Given the description of an element on the screen output the (x, y) to click on. 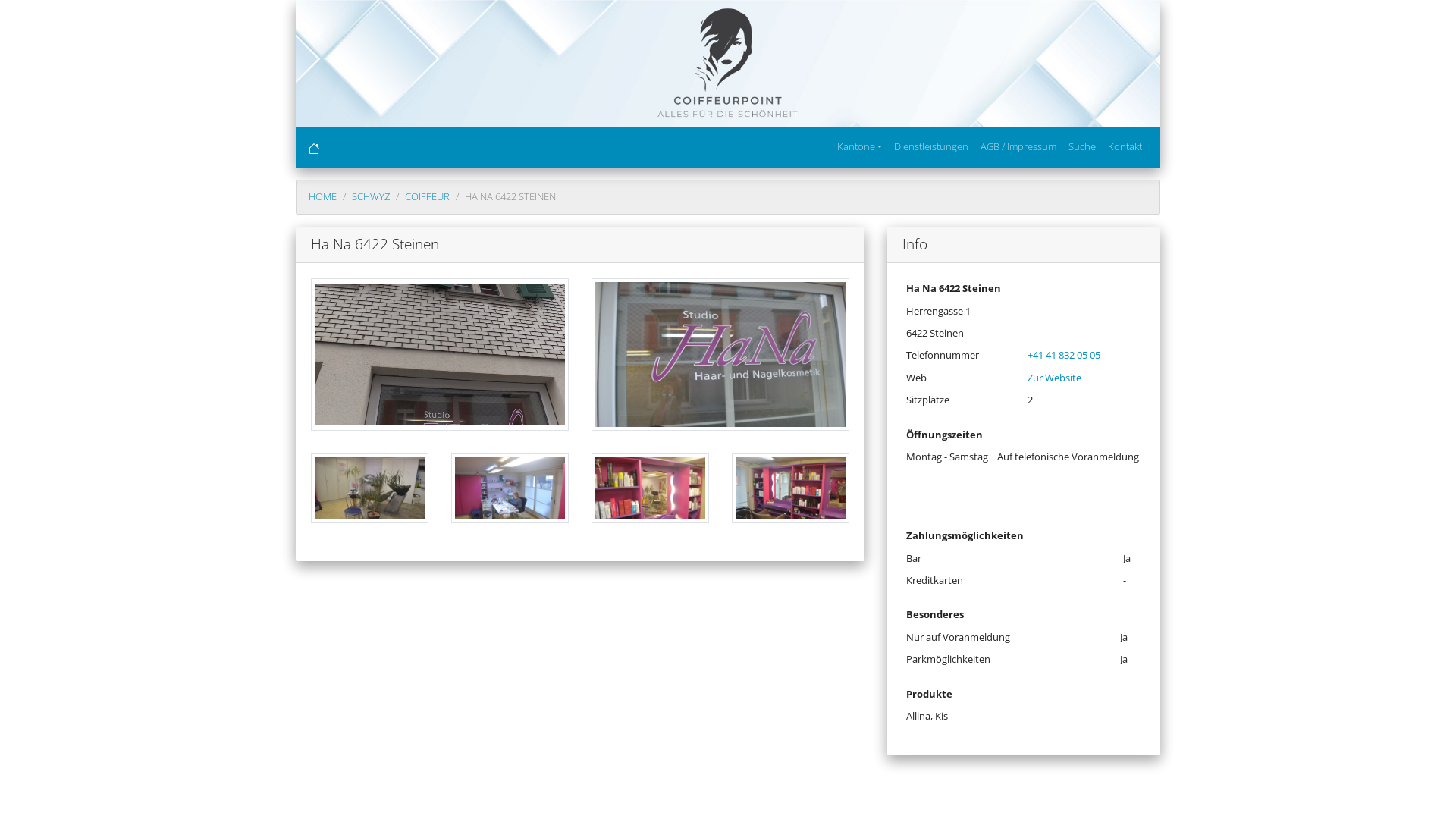
Suche Element type: text (1081, 146)
HOME Element type: text (322, 196)
SCHWYZ Element type: text (370, 196)
AGB / Impressum Element type: text (1018, 146)
COIFFEUR Element type: text (426, 196)
Kantone Element type: text (859, 146)
Kontakt Element type: text (1124, 146)
Dienstleistungen Element type: text (931, 146)
Zur Website Element type: text (1054, 377)
+41 41 832 05 05 Element type: text (1063, 354)
